Given the description of an element on the screen output the (x, y) to click on. 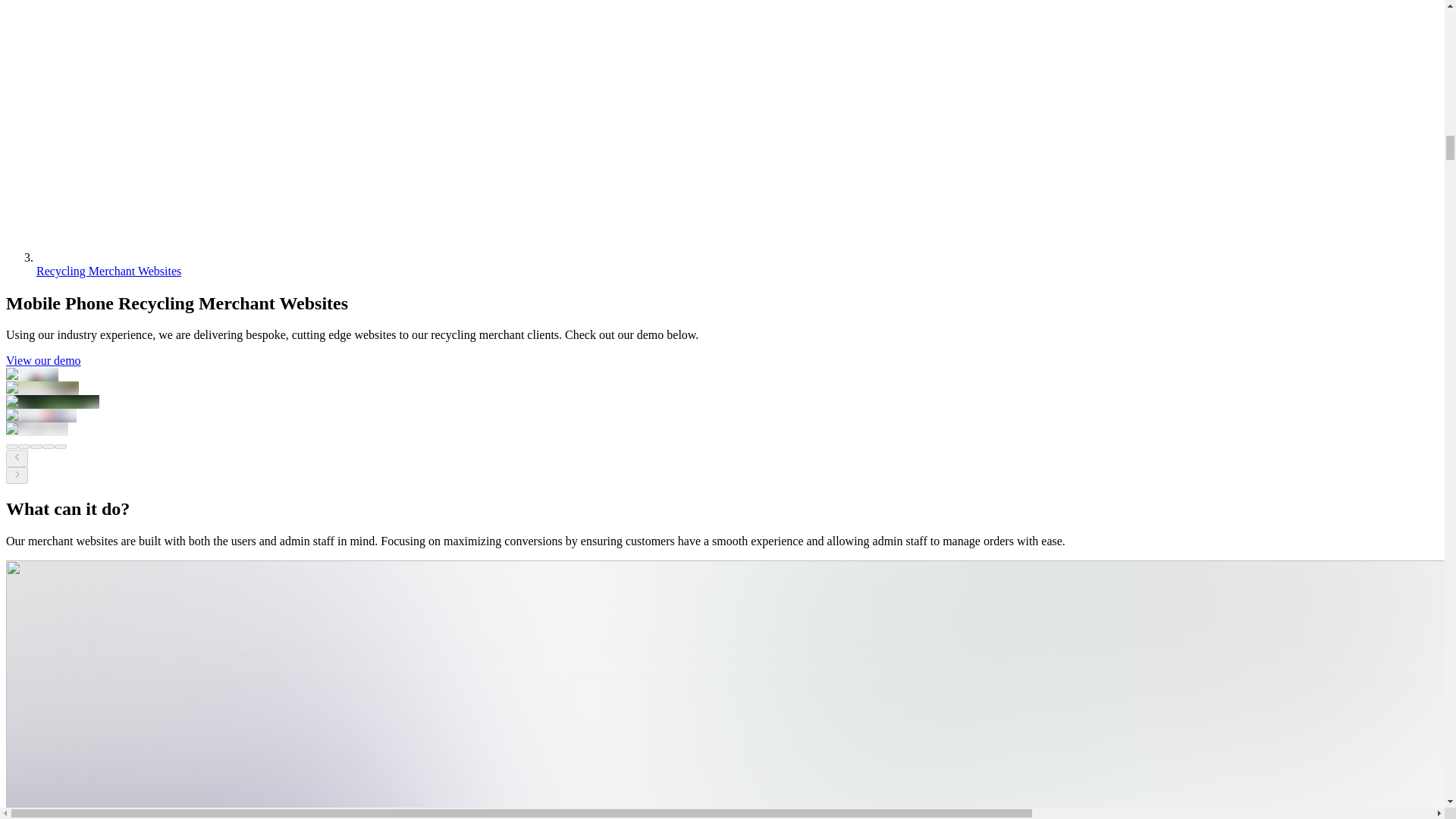
View our demo (43, 359)
Recycling Merchant Websites (108, 270)
